Given the description of an element on the screen output the (x, y) to click on. 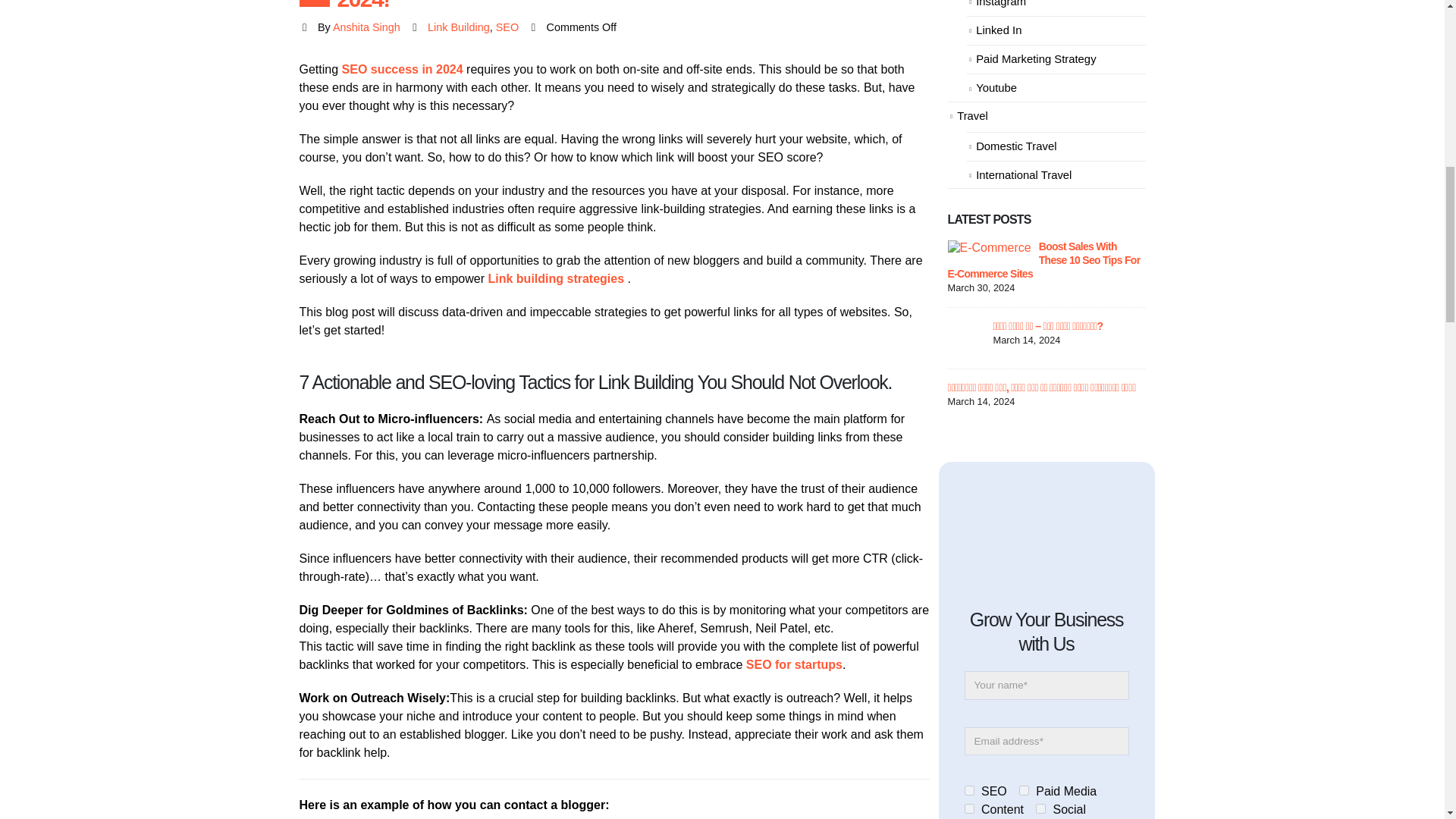
Paid Media (1024, 790)
Social (1040, 808)
SEO (968, 790)
Content (968, 808)
Posts by Anshita Singh (366, 27)
